Given the description of an element on the screen output the (x, y) to click on. 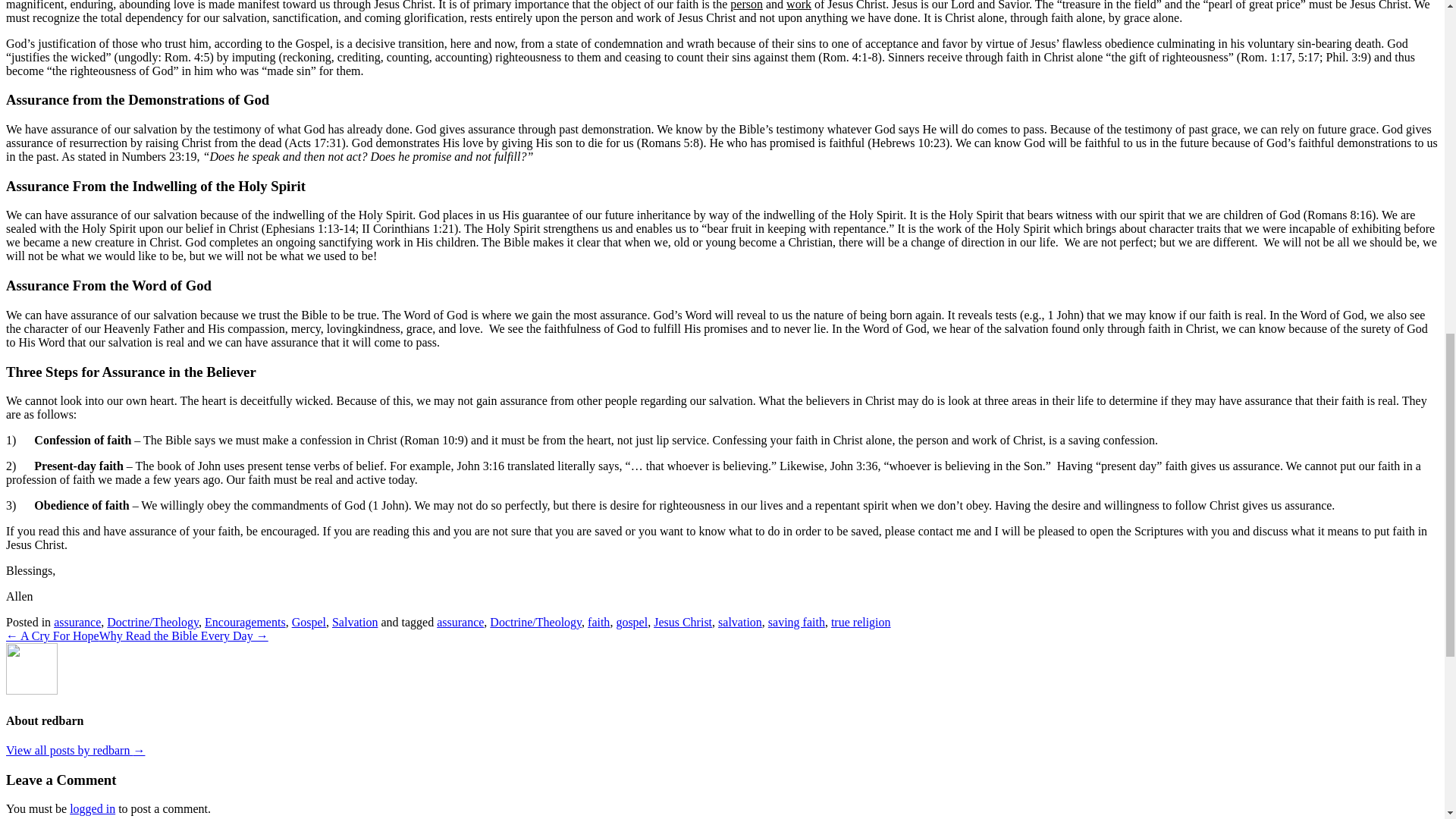
Encouragements (245, 621)
assurance (76, 621)
